Given the description of an element on the screen output the (x, y) to click on. 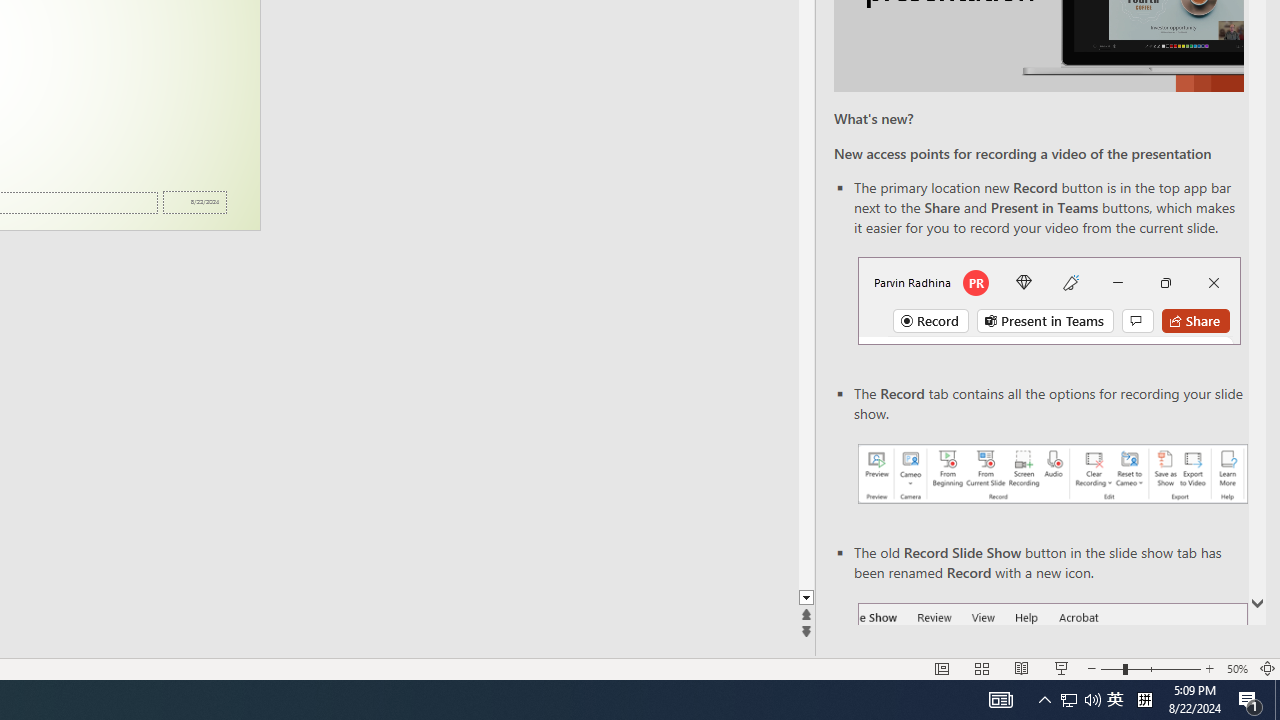
Date (194, 201)
Record your presentations screenshot one (1052, 473)
Record button in top bar (1049, 300)
Zoom 50% (1236, 668)
